Given the description of an element on the screen output the (x, y) to click on. 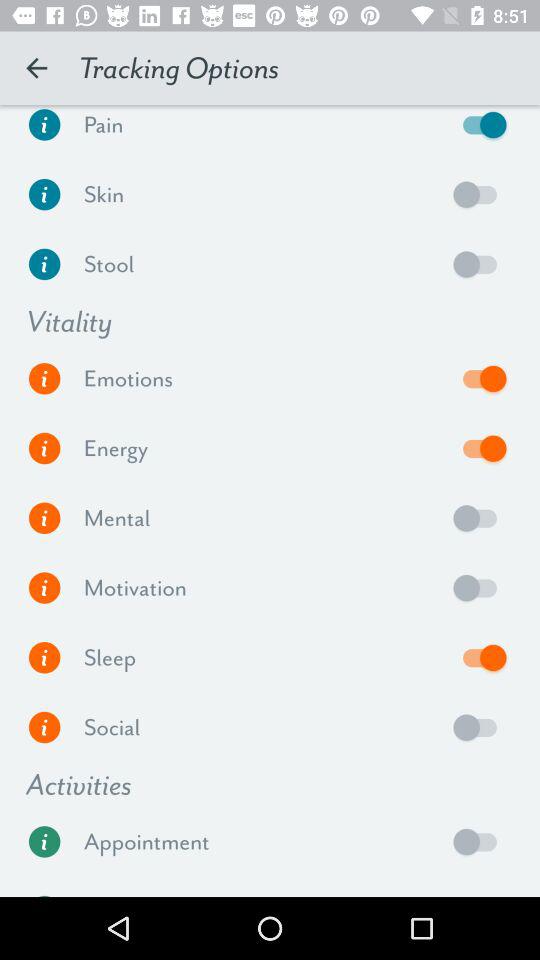
pain information (44, 130)
